Given the description of an element on the screen output the (x, y) to click on. 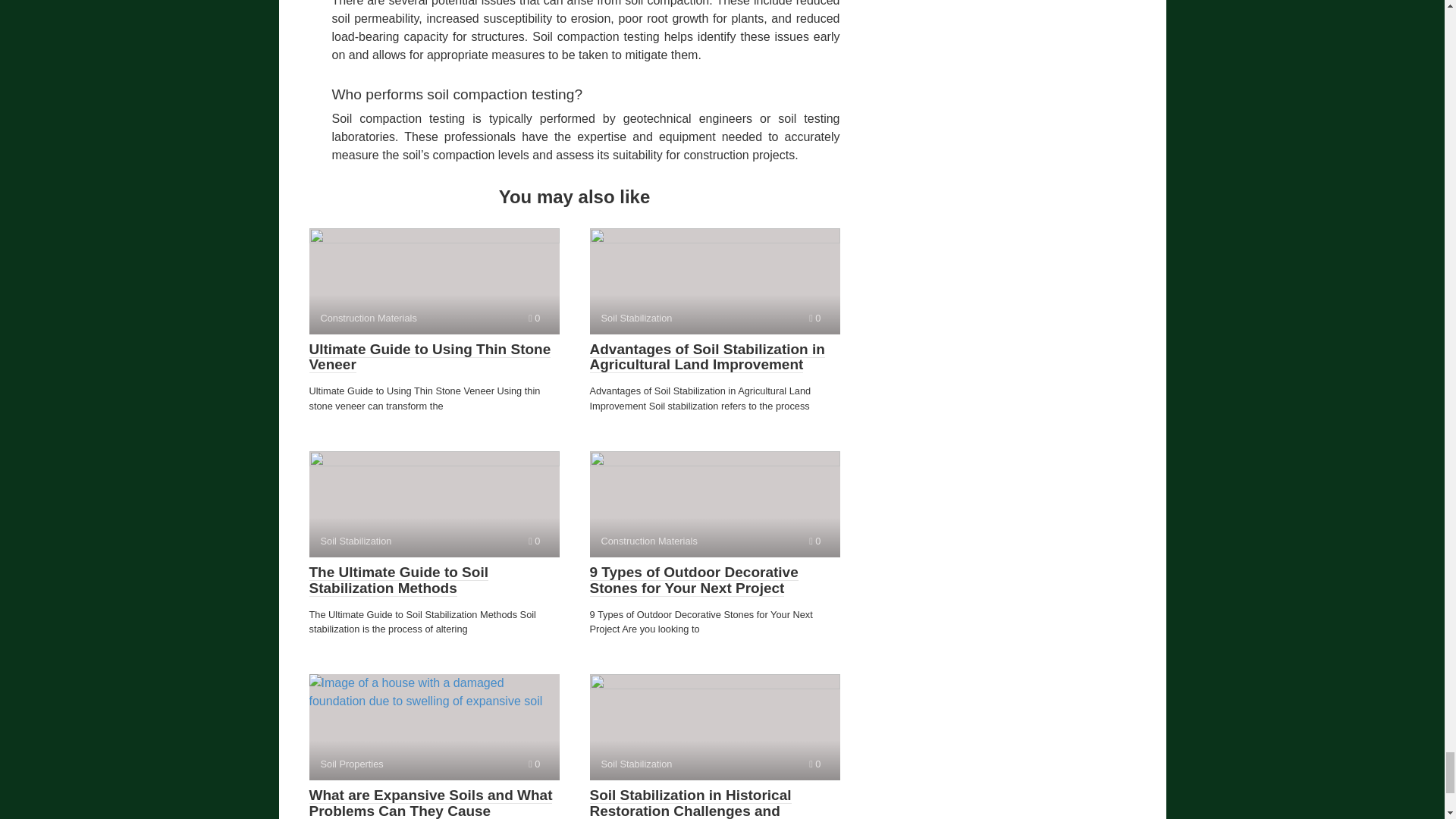
Ultimate Guide to Using Thin Stone Veneer (433, 504)
Comments (429, 357)
Comments (433, 281)
